Given the description of an element on the screen output the (x, y) to click on. 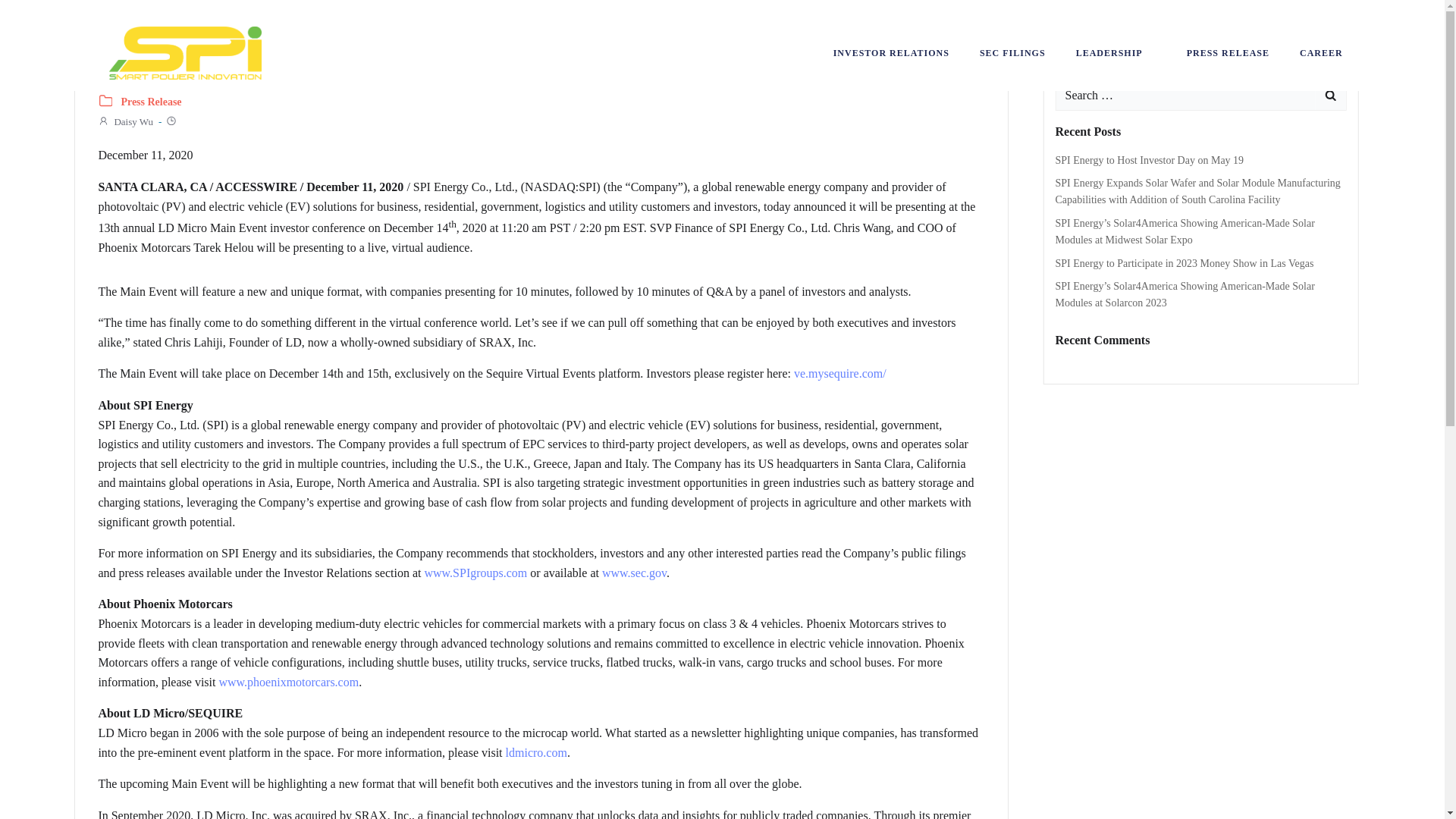
Daisy Wu (124, 121)
Press Release (150, 102)
INVESTOR RELATIONS (890, 52)
LEADERSHIP (1115, 52)
PRESS RELEASE (1227, 52)
www.phoenixmotorcars.com (288, 681)
SPI Energy to Participate in 2023 Money Show in Las Vegas (1184, 263)
www.sec.gov (634, 572)
Search  (29, 14)
